Given the description of an element on the screen output the (x, y) to click on. 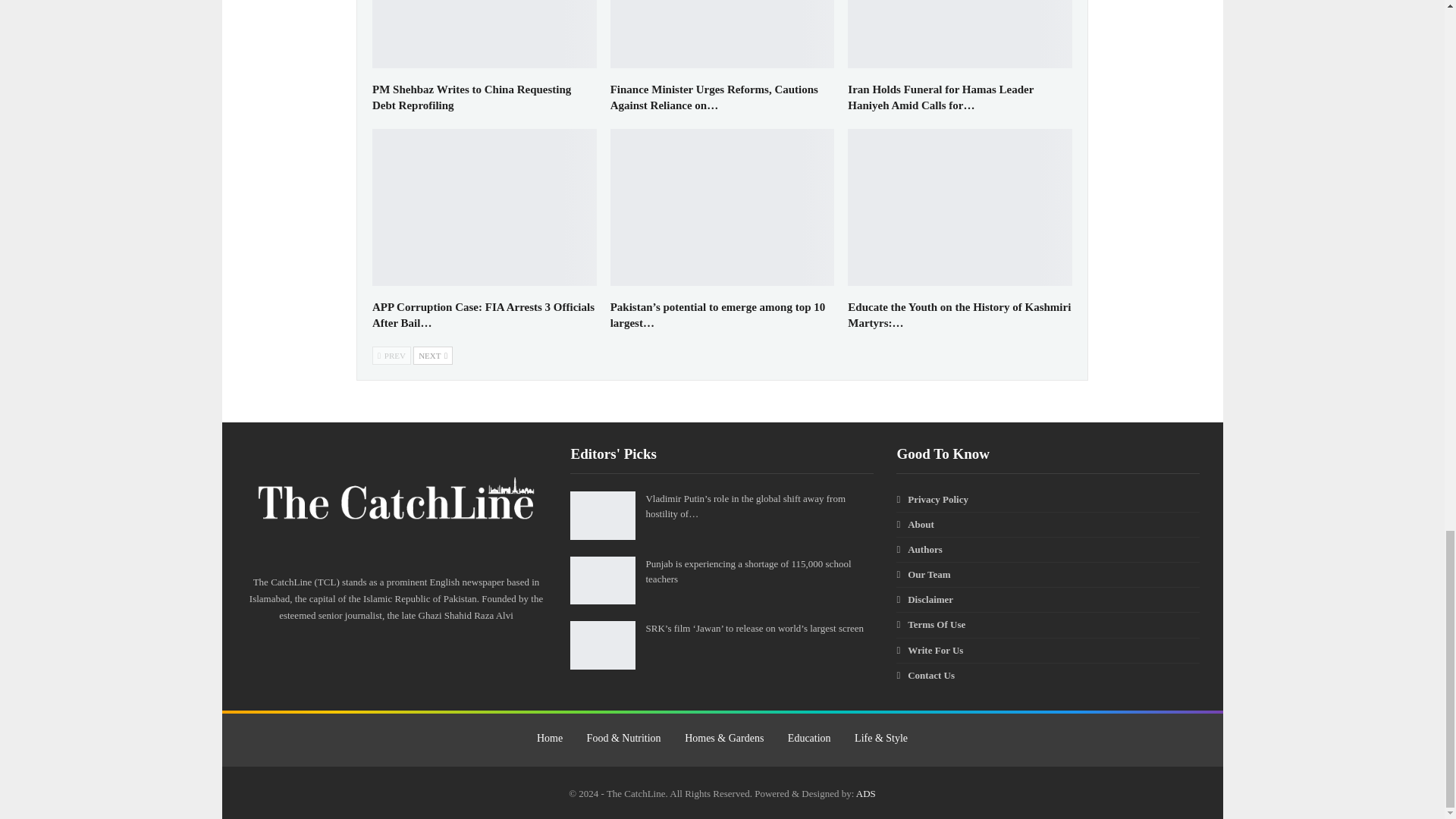
PM Shehbaz Writes to China Requesting Debt Reprofiling (471, 97)
PM Shehbaz Writes to China Requesting Debt Reprofiling (484, 33)
